Given the description of an element on the screen output the (x, y) to click on. 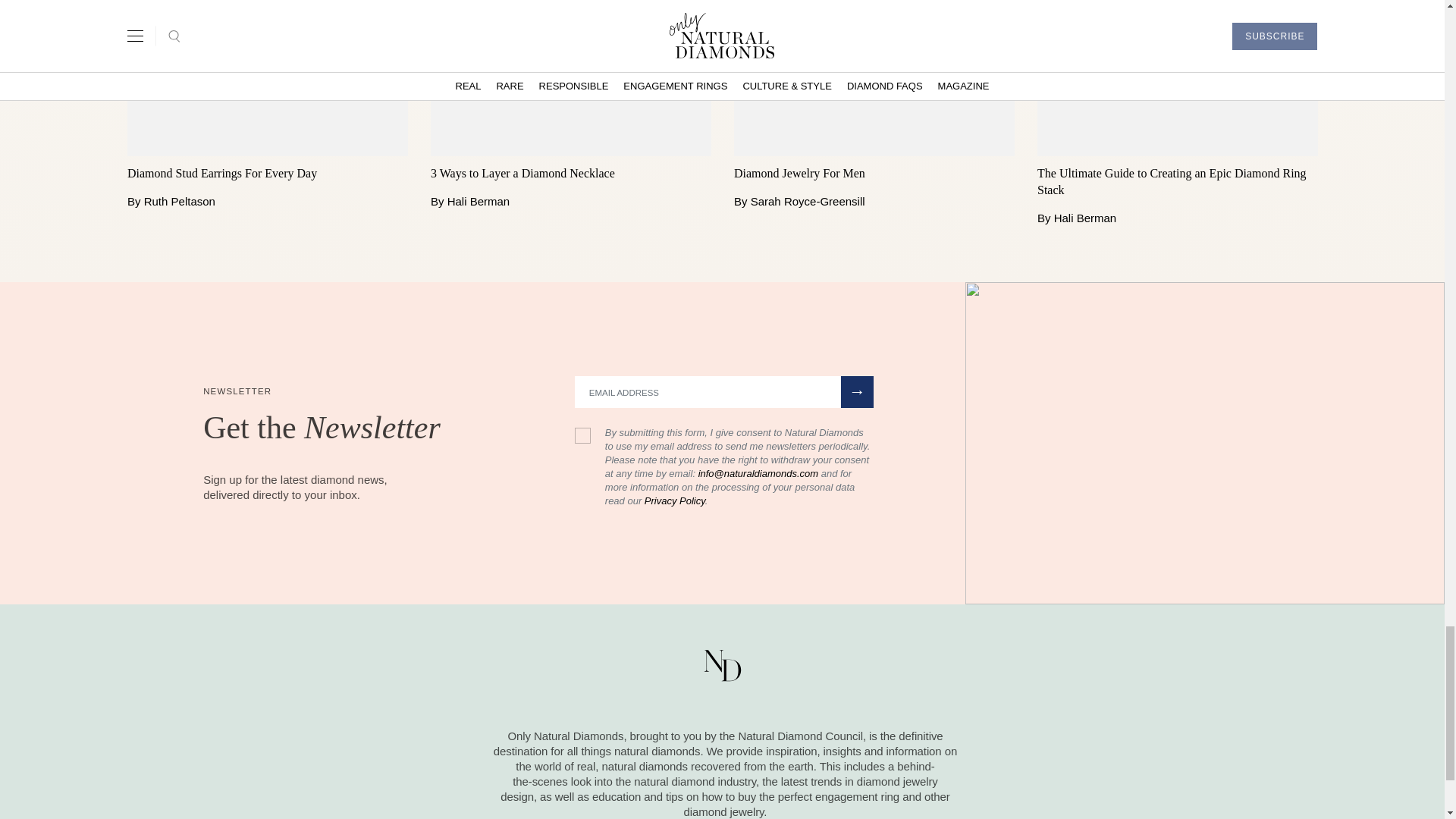
Diamond Jewelry For Men (873, 172)
Diamond Stud Earrings For Every Day (267, 172)
The Ultimate Guide to Creating an Epic Diamond Ring Stack (1176, 181)
3 Ways to Layer a Diamond Necklace (570, 172)
